Given the description of an element on the screen output the (x, y) to click on. 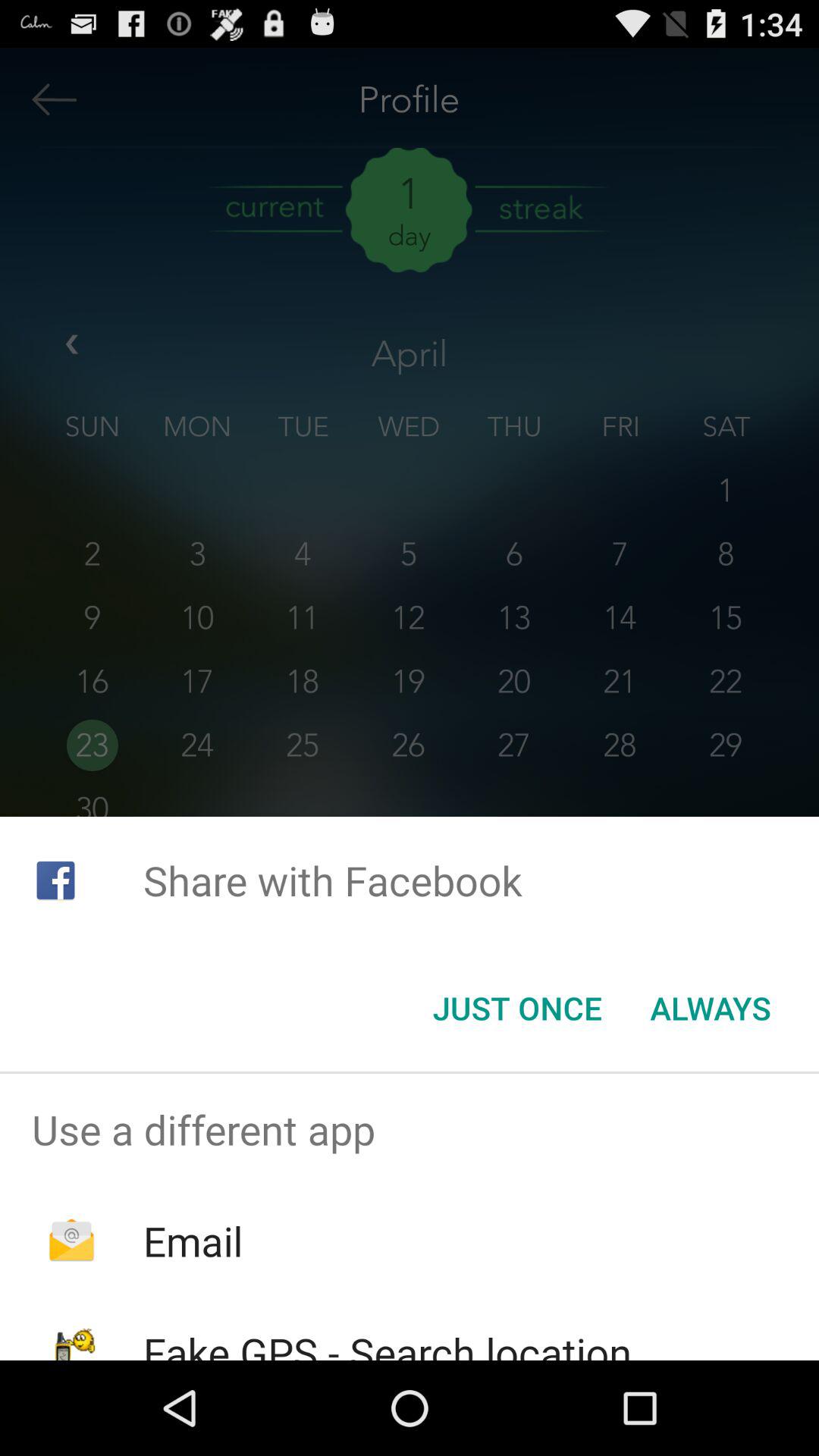
turn off the icon above email item (409, 1129)
